Given the description of an element on the screen output the (x, y) to click on. 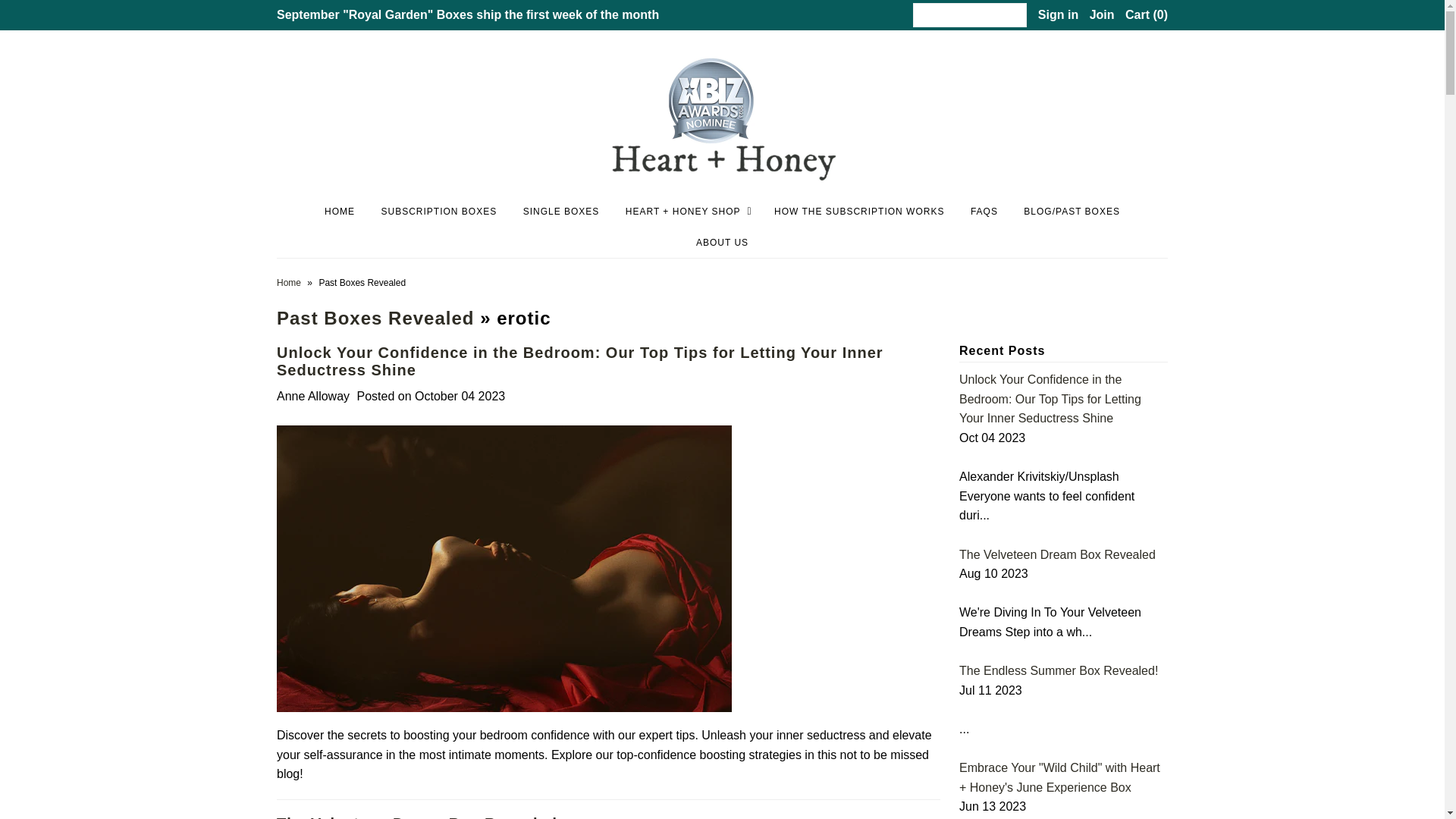
Home (290, 282)
ABOUT US (722, 242)
Save when you subscribe! (467, 14)
Sign in (1058, 14)
HOW THE SUBSCRIPTION WORKS (858, 211)
FAQS (984, 211)
SUBSCRIPTION BOXES (438, 211)
Join (1102, 14)
The Velveteen Dream Box Revealed (416, 816)
Past Boxes Revealed (375, 317)
